Given the description of an element on the screen output the (x, y) to click on. 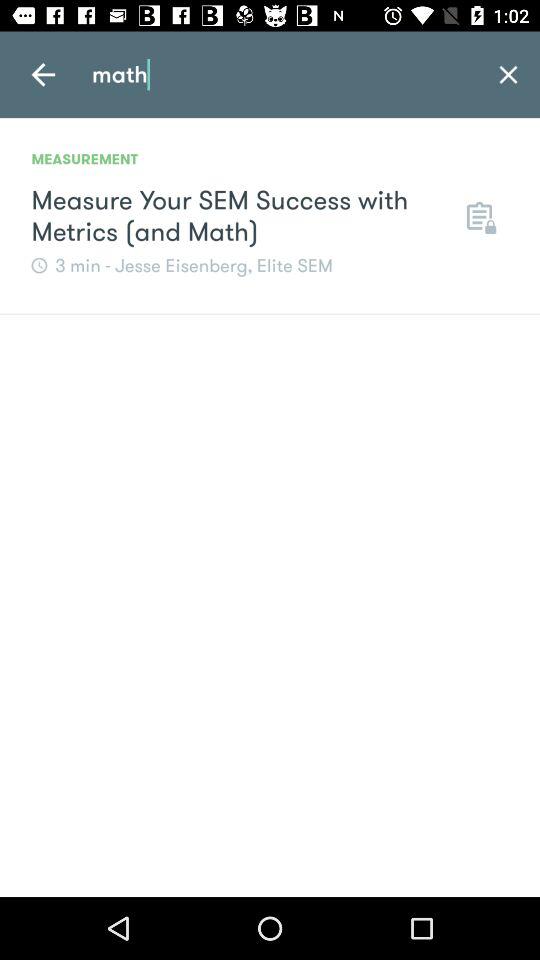
click icon next to measure your sem icon (479, 216)
